Given the description of an element on the screen output the (x, y) to click on. 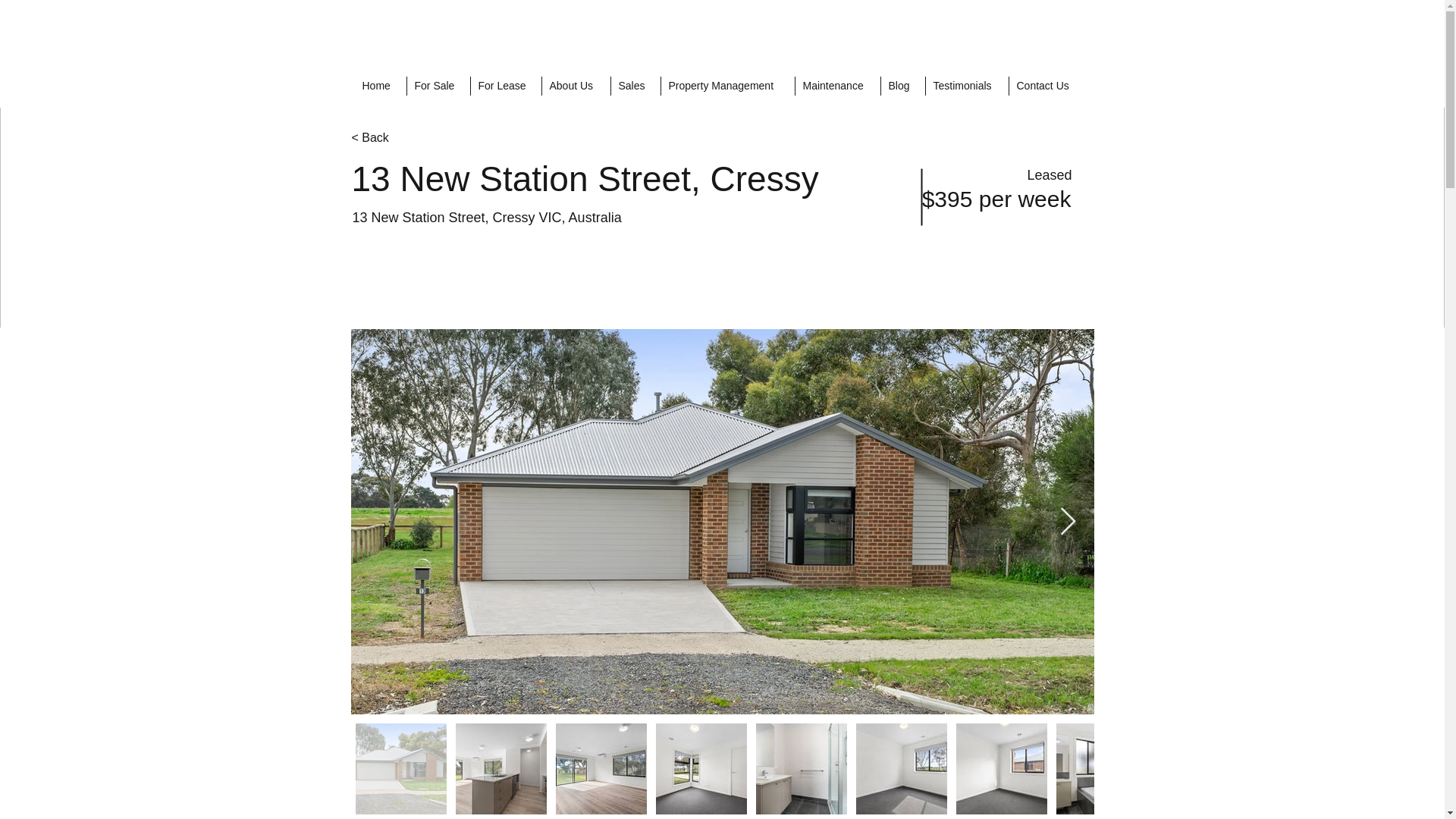
Log In (1050, 22)
Home (380, 85)
Contact Us (1047, 85)
Sales (634, 85)
About Us (575, 85)
Testimonials (966, 85)
Property Management (726, 85)
For Sale (438, 85)
Maintenance (837, 85)
For Lease (505, 85)
